Given the description of an element on the screen output the (x, y) to click on. 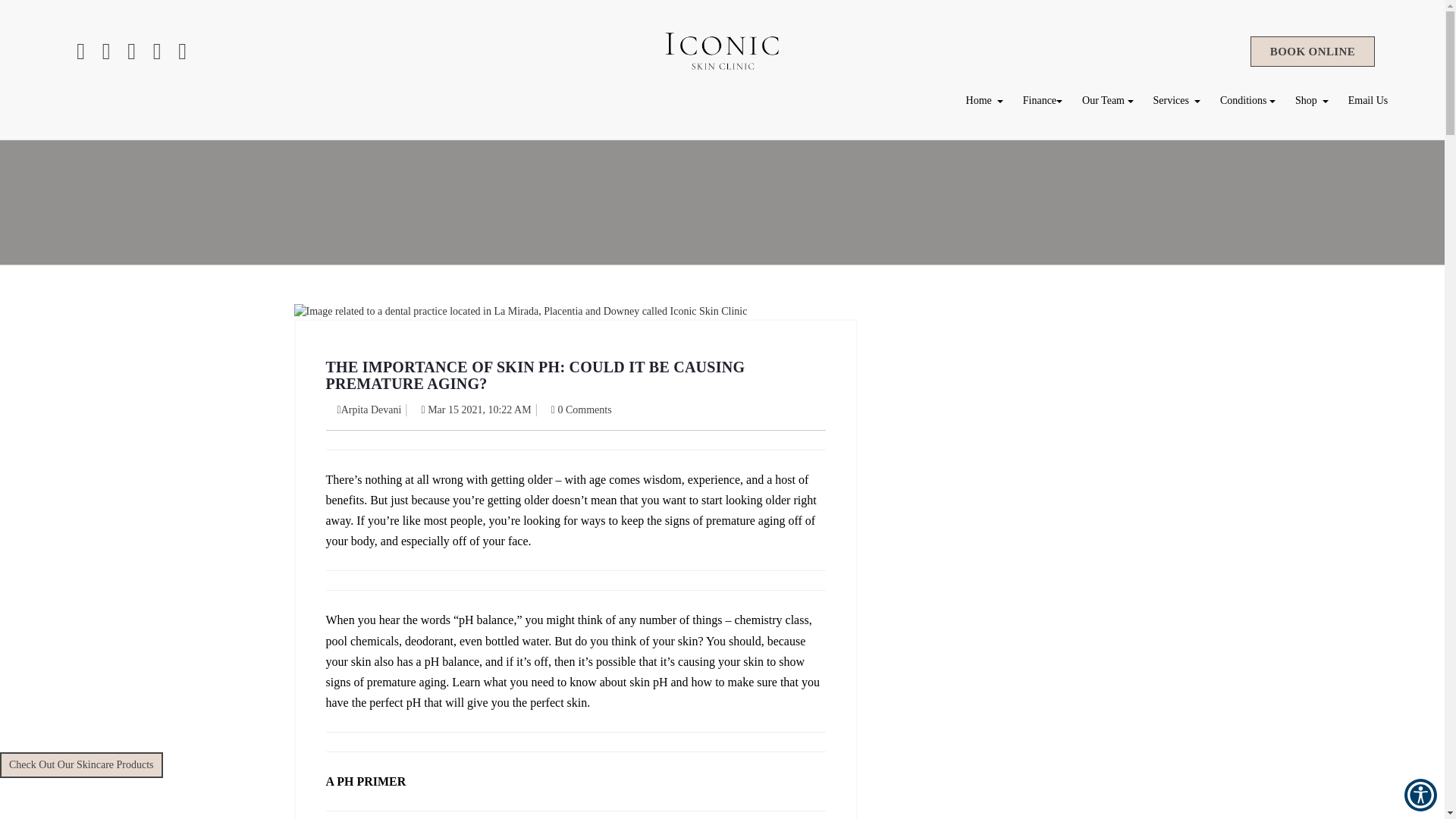
Our Team (1107, 100)
Services   (1177, 100)
Home   (984, 100)
Conditions (1247, 100)
Shop   (1311, 100)
Finance (1042, 100)
LOGO (721, 51)
BOOK ONLINE (1312, 51)
